Given the description of an element on the screen output the (x, y) to click on. 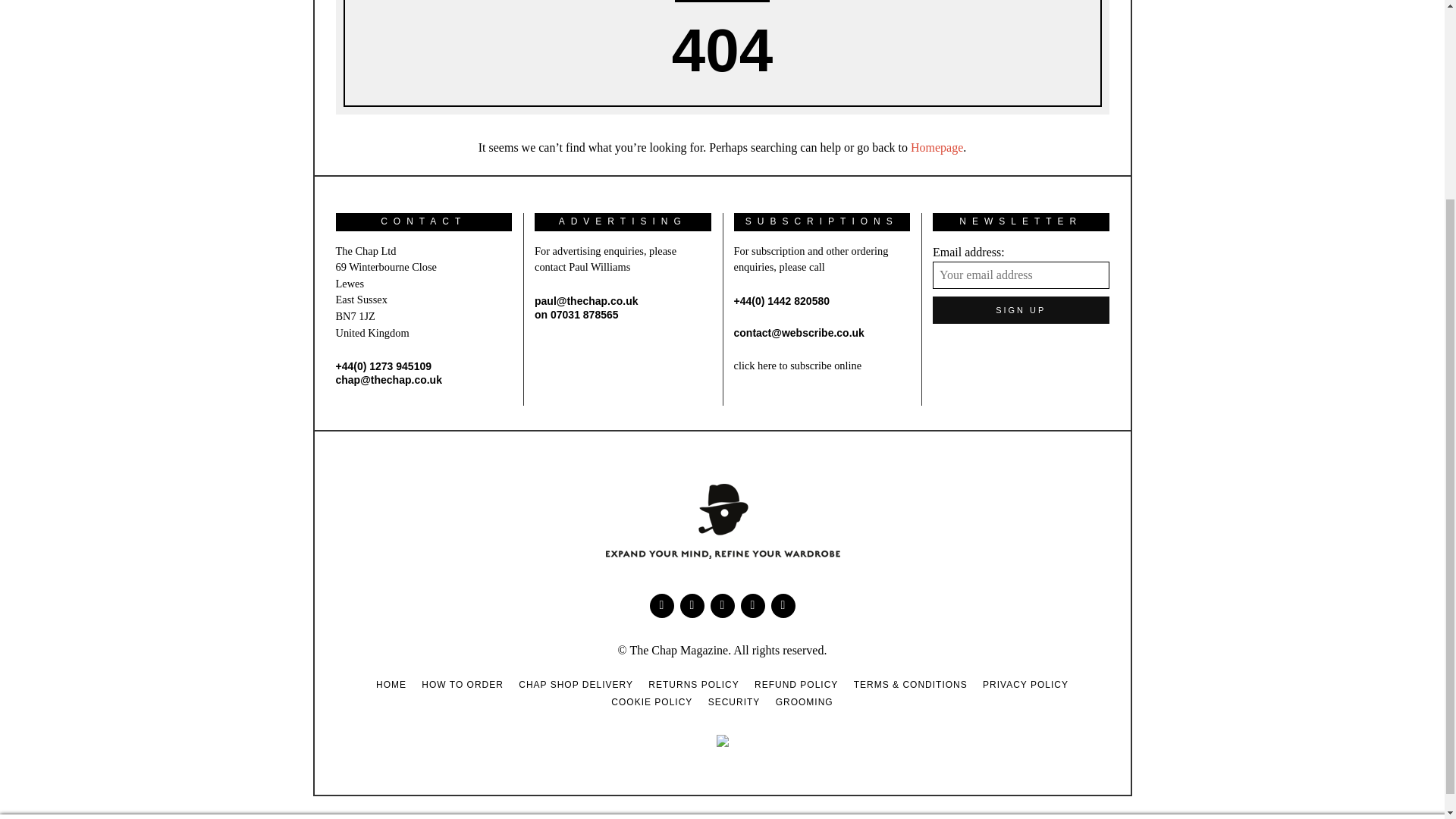
Twitter (691, 605)
Sign up (1021, 309)
YouTube (721, 605)
Instagram (751, 605)
Email (782, 605)
Facebook (660, 605)
